Given the description of an element on the screen output the (x, y) to click on. 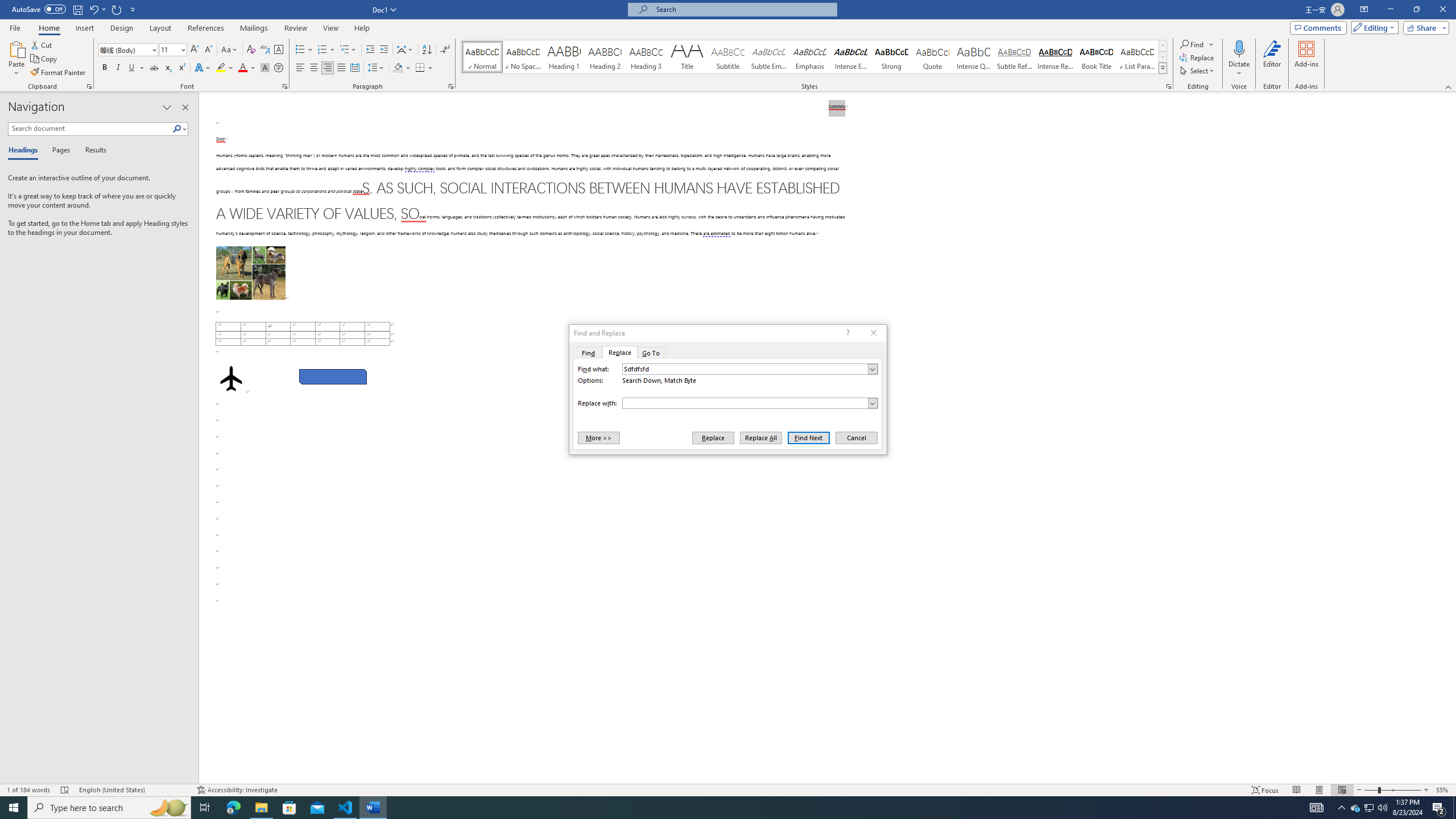
Dictate (1238, 48)
Undo Paragraph Alignment (96, 9)
Clear Formatting (250, 49)
Collapse the Ribbon (1448, 86)
Share (1423, 27)
Show/Hide Editing Marks (444, 49)
